Given the description of an element on the screen output the (x, y) to click on. 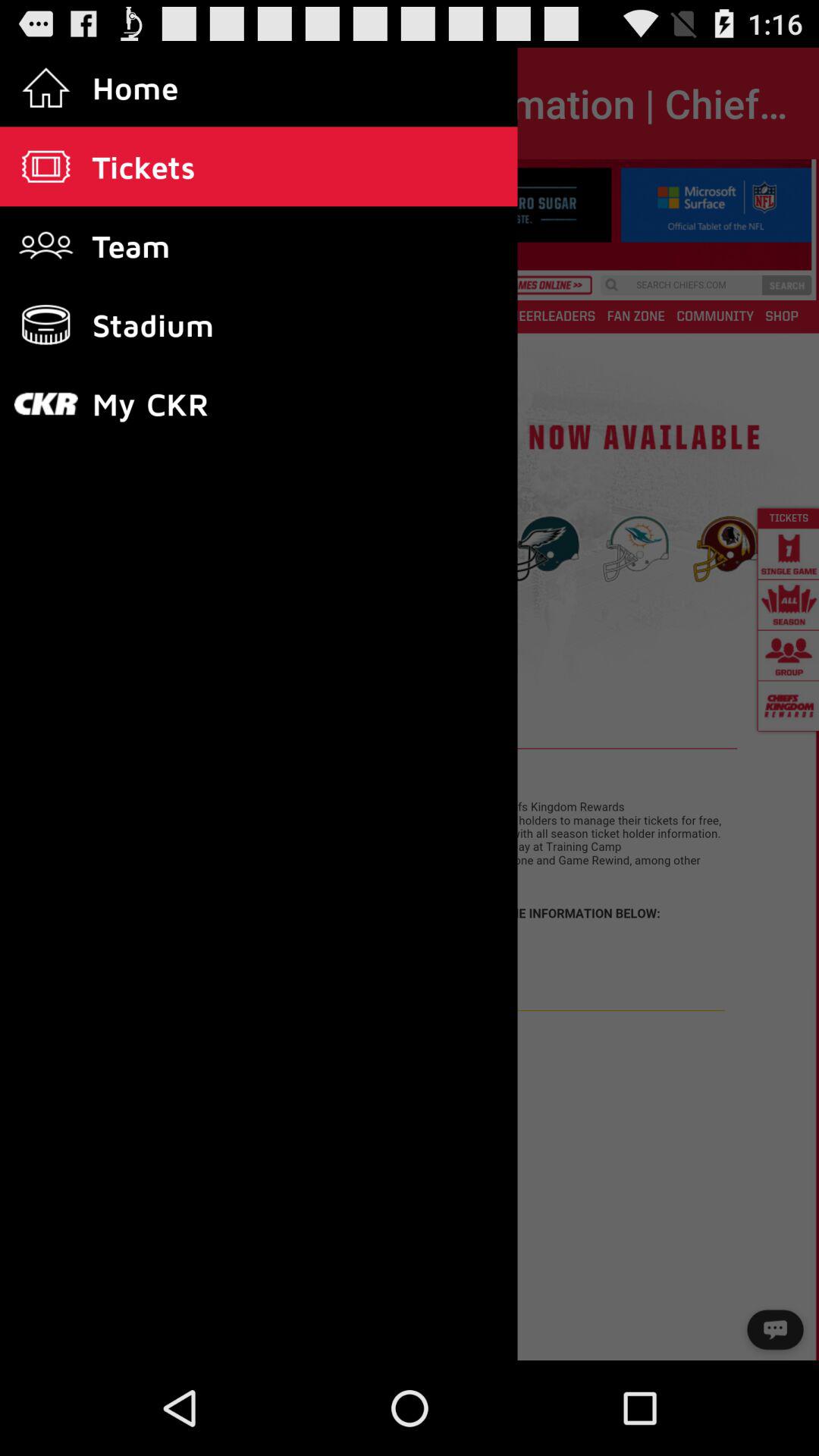
click the item at the center (409, 759)
